Given the description of an element on the screen output the (x, y) to click on. 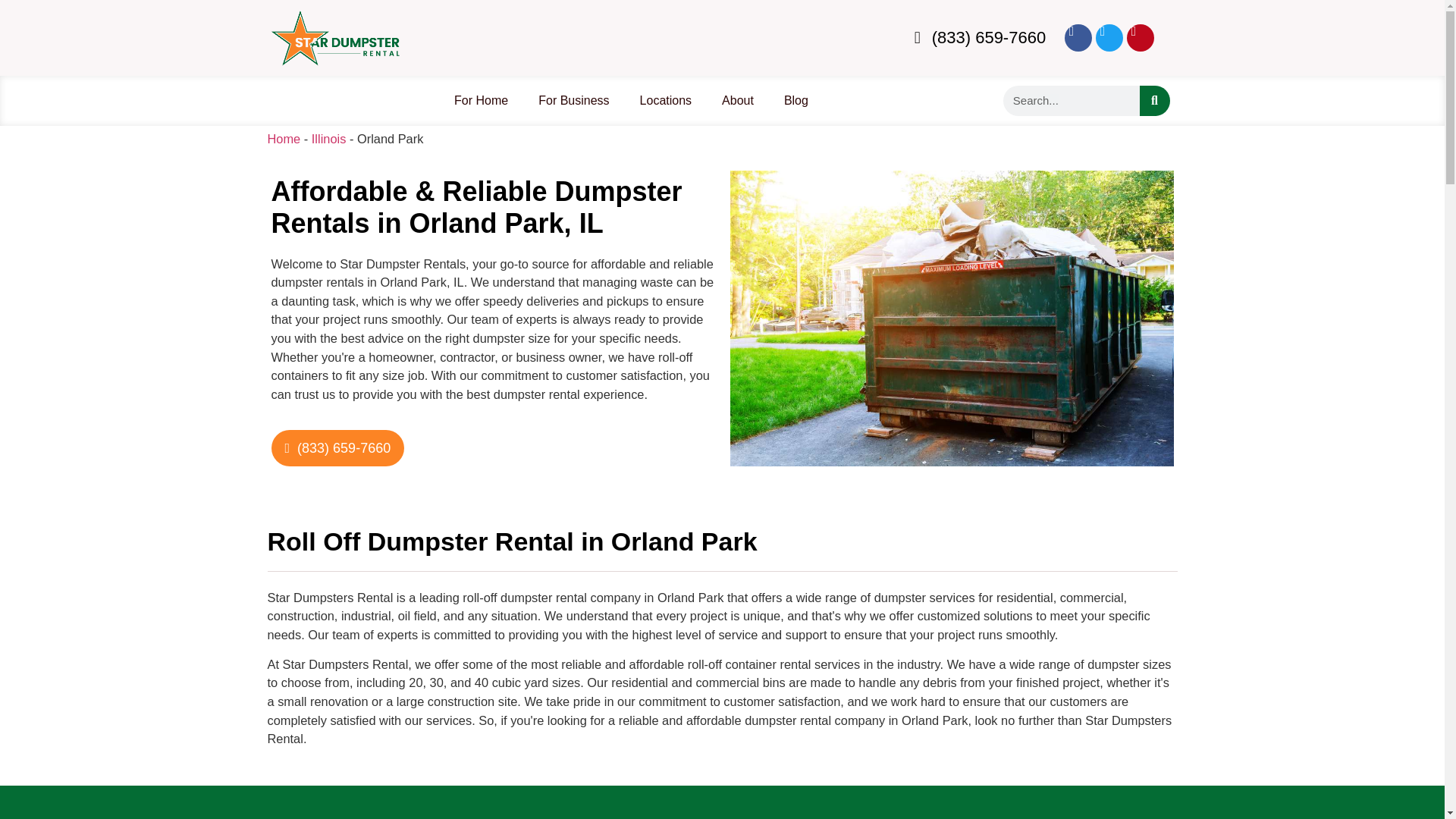
Blog (796, 100)
For Business (573, 100)
For Home (480, 100)
Locations (665, 100)
About (737, 100)
Home (282, 138)
Illinois (328, 138)
